Given the description of an element on the screen output the (x, y) to click on. 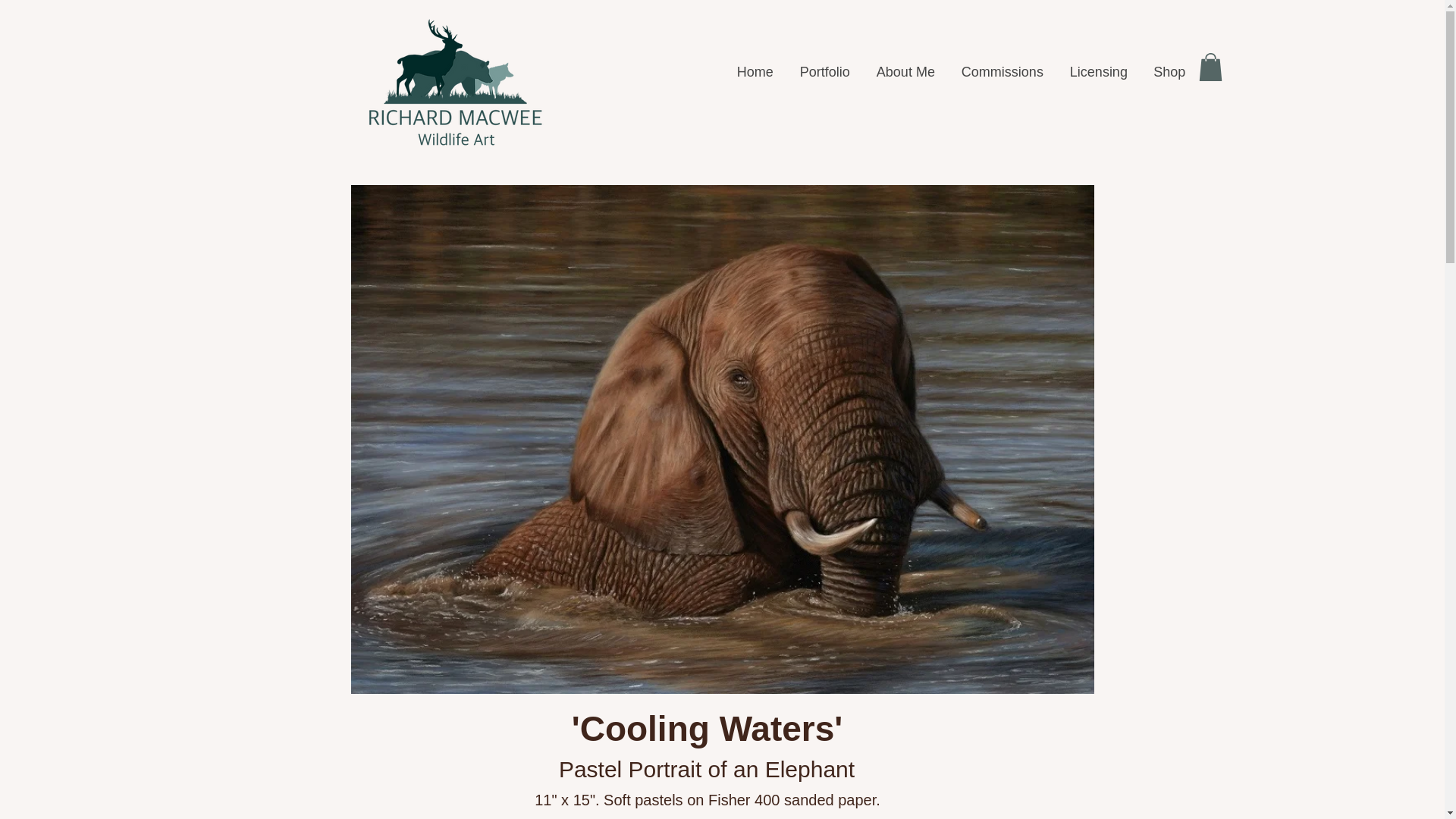
Commissions (1002, 71)
Home (754, 71)
Licensing (1098, 71)
Shop (1169, 71)
About Me (905, 71)
